Given the description of an element on the screen output the (x, y) to click on. 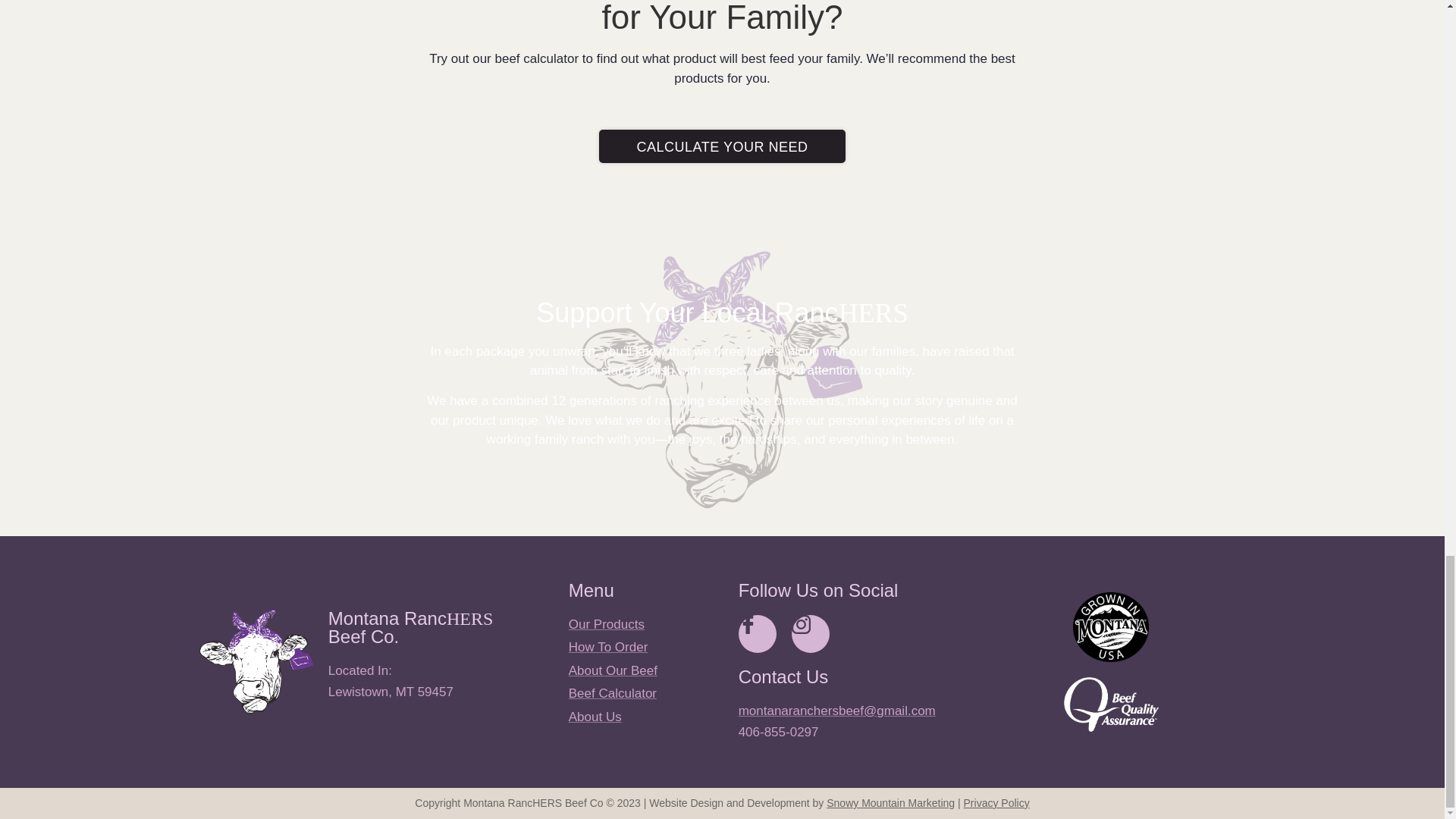
Our Products (646, 624)
How To Order (646, 647)
About Our Beef (646, 670)
Snowy Mountain Marketing (891, 802)
CALCULATE YOUR NEED (721, 145)
About Us (646, 717)
Privacy Policy (996, 802)
Beef Calculator (646, 693)
